Given the description of an element on the screen output the (x, y) to click on. 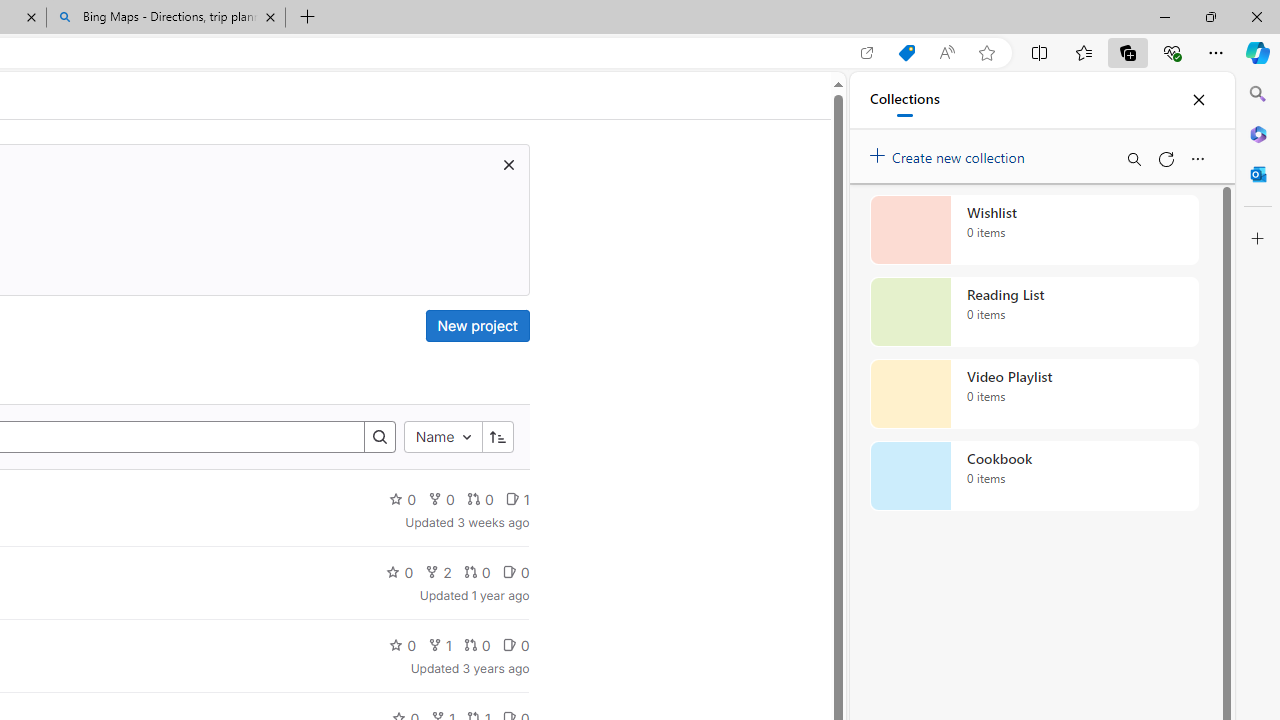
Name (442, 437)
Video Playlist collection, 0 items (1034, 394)
Cookbook collection, 0 items (1034, 475)
